Given the description of an element on the screen output the (x, y) to click on. 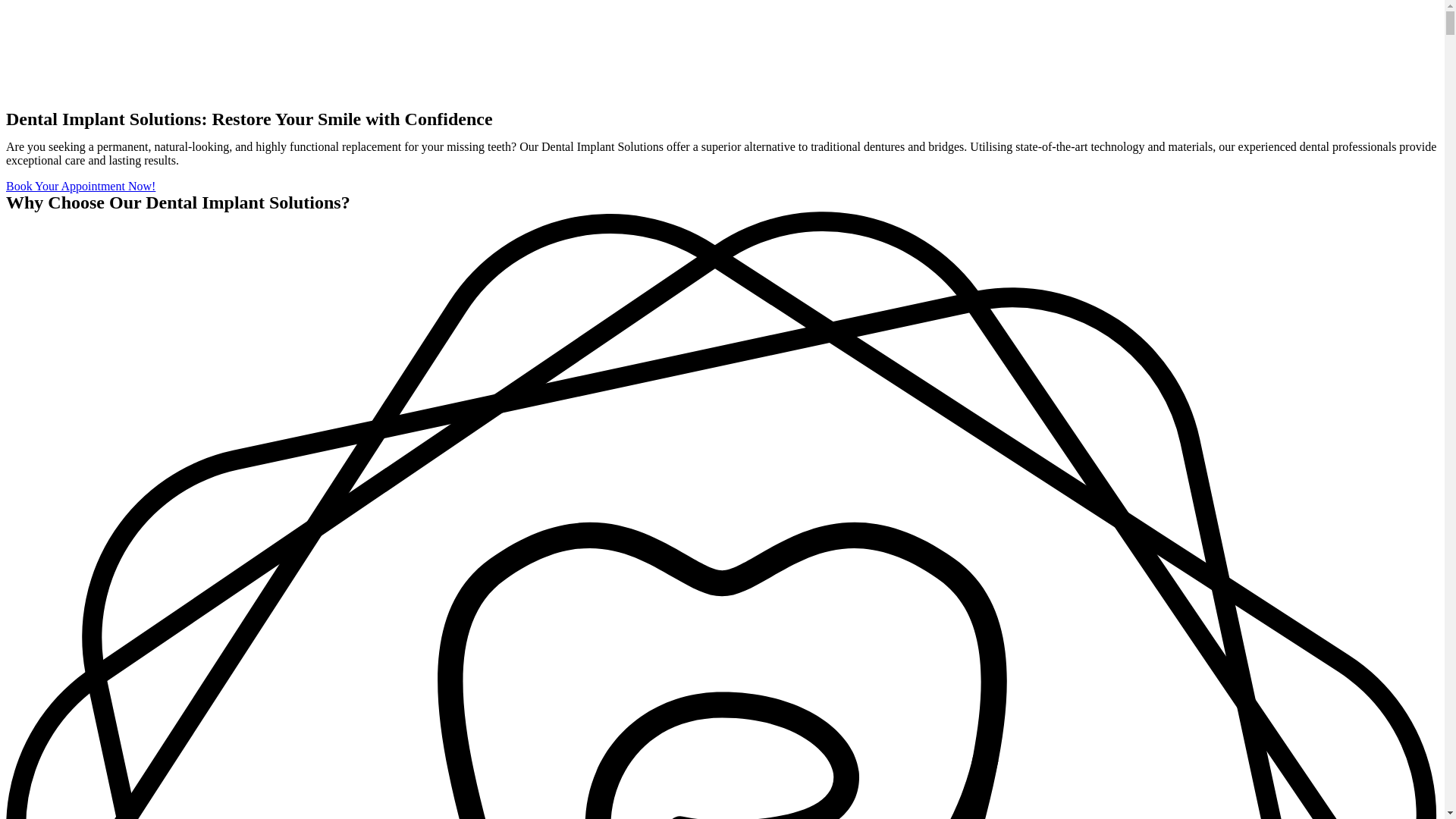
Book Your Appointment Now! (80, 185)
